Given the description of an element on the screen output the (x, y) to click on. 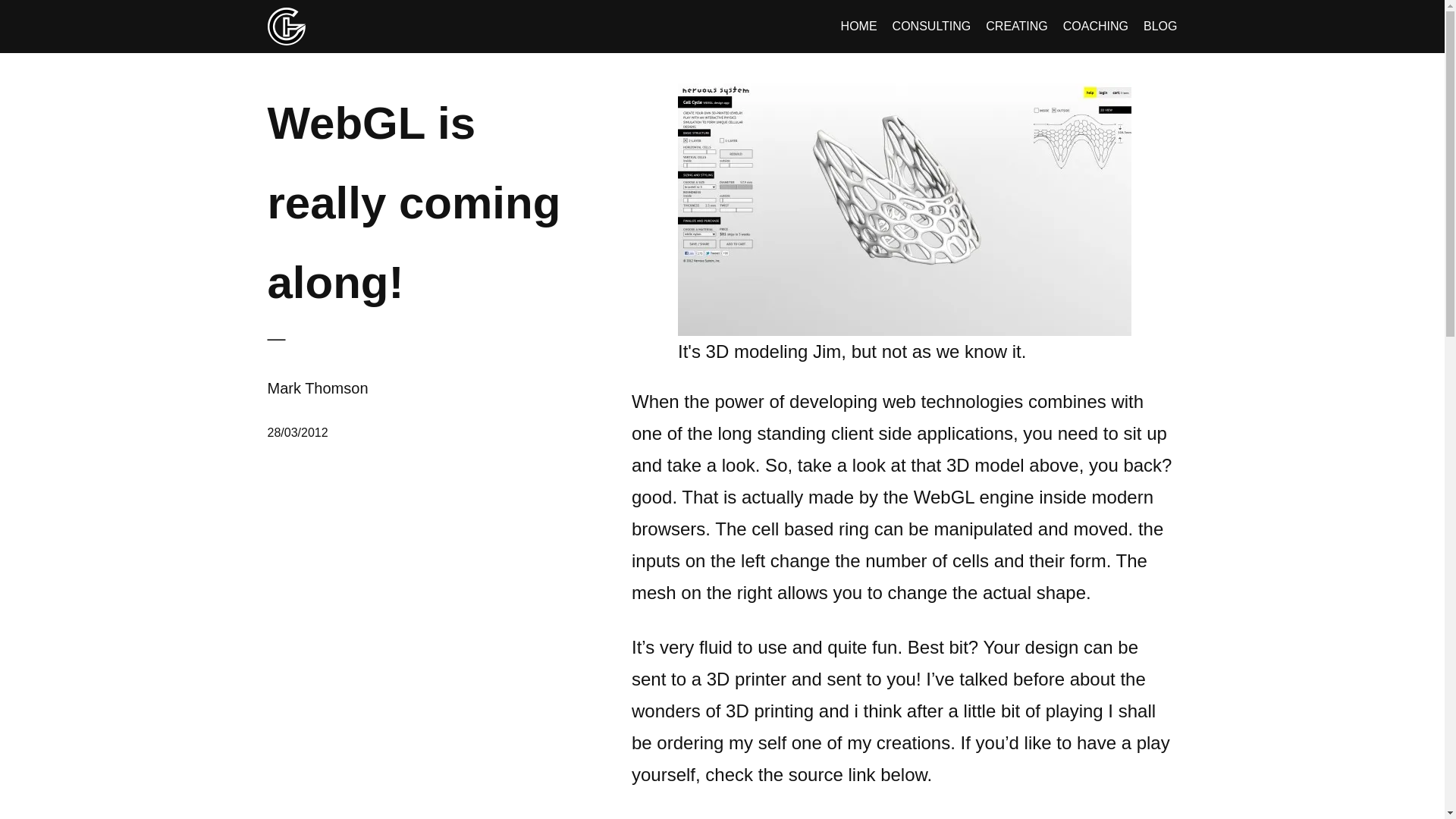
BLOG (1159, 25)
CONSULTING (931, 25)
HOME (859, 25)
web-gl (904, 209)
CREATING (1015, 25)
COACHING (1095, 25)
